Given the description of an element on the screen output the (x, y) to click on. 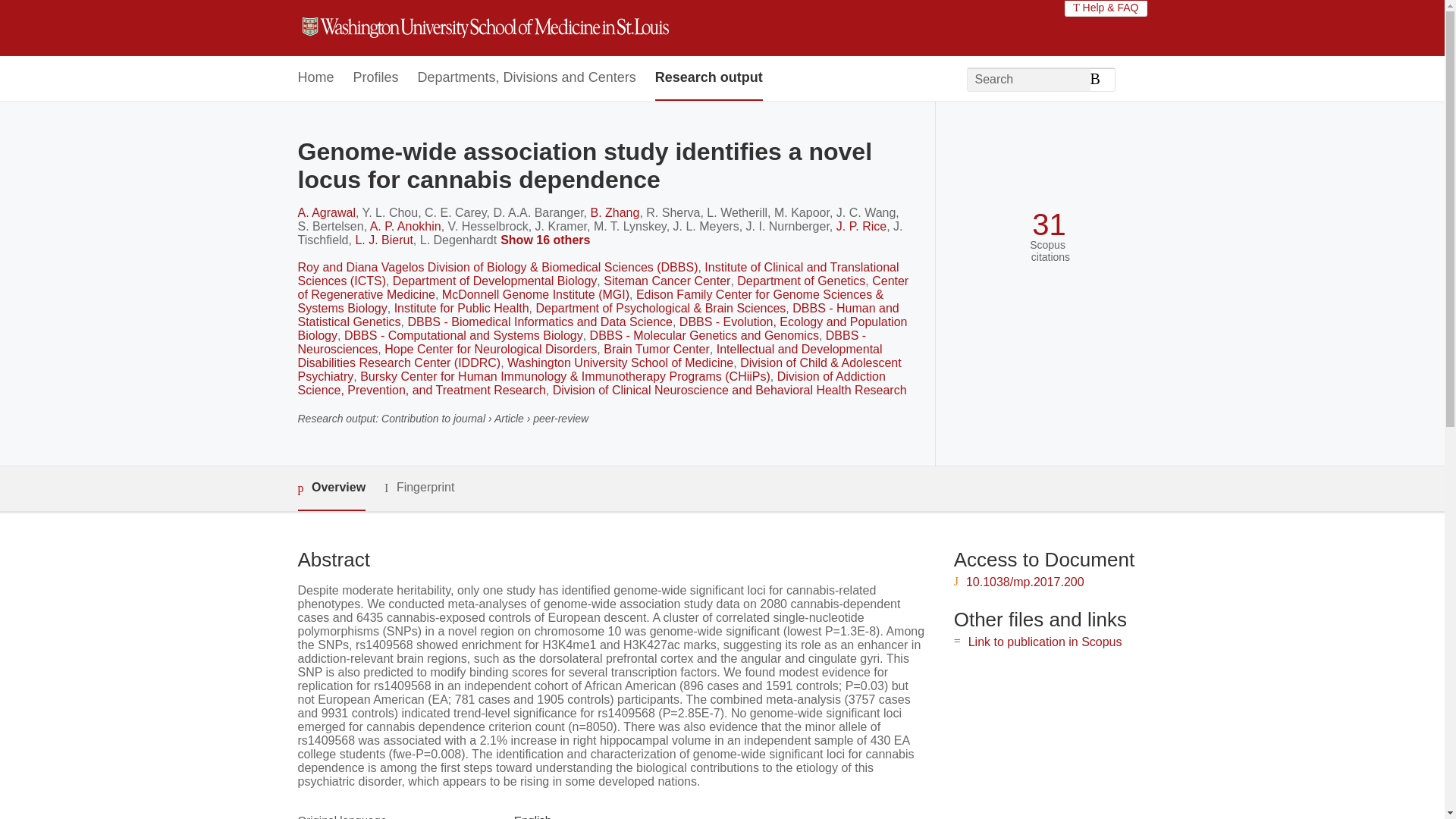
Hope Center for Neurological Disorders (490, 349)
DBBS - Molecular Genetics and Genomics (703, 335)
DBBS - Evolution, Ecology and Population Biology (602, 328)
Research output (708, 78)
B. Zhang (614, 212)
DBBS - Computational and Systems Biology (463, 335)
DBBS - Human and Statistical Genetics (597, 315)
DBBS - Biomedical Informatics and Data Science (539, 321)
Siteman Cancer Center (667, 280)
